Given the description of an element on the screen output the (x, y) to click on. 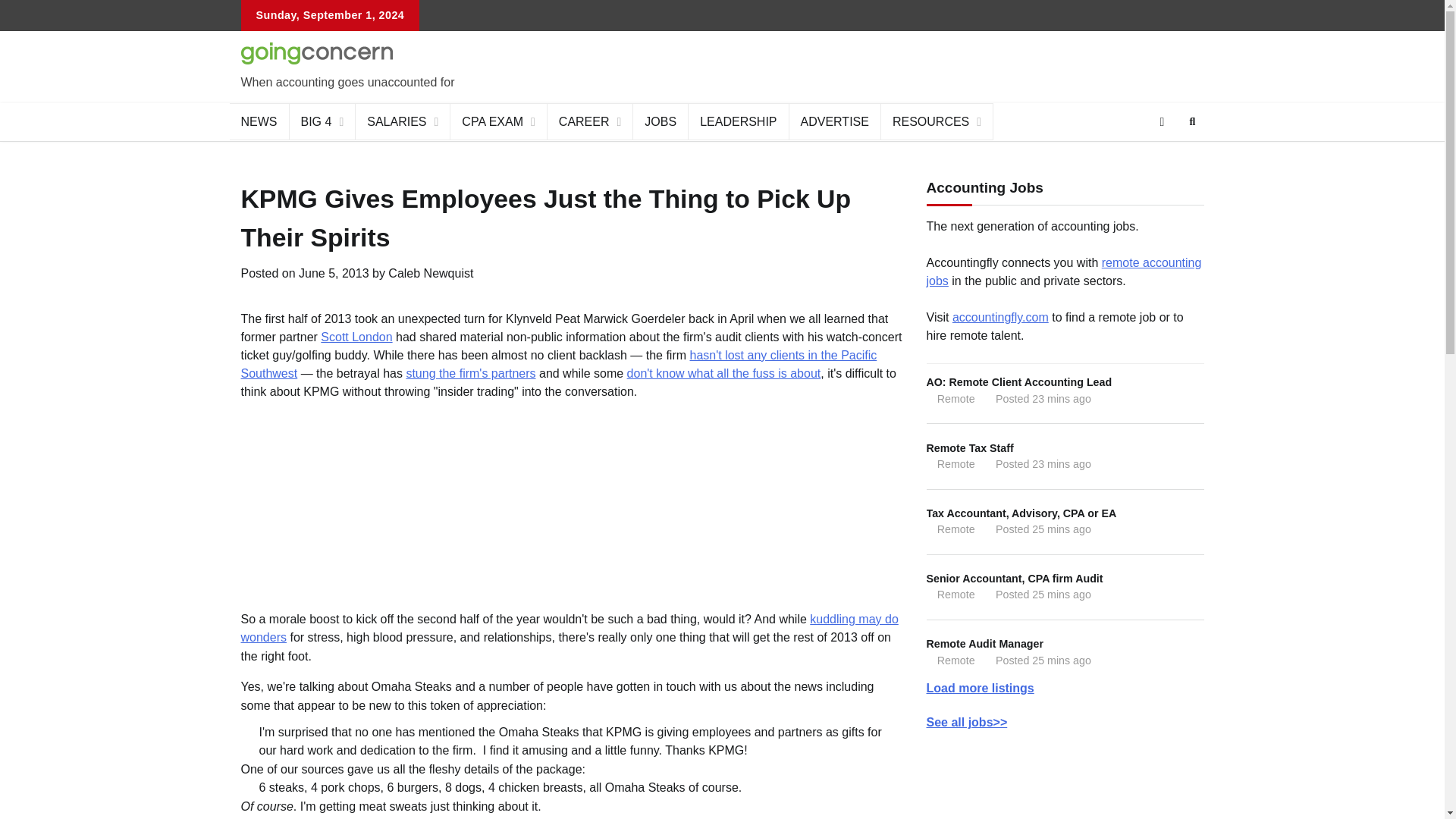
Scott London (355, 336)
NEWS (258, 121)
BIG 4 (322, 121)
JOBS (660, 121)
hasn't lost any clients in the Pacific Southwest (559, 364)
Caleb Newquist (430, 273)
LEADERSHIP (738, 121)
Search (1164, 157)
SALARIES (402, 121)
stung the firm's partners (470, 373)
